Given the description of an element on the screen output the (x, y) to click on. 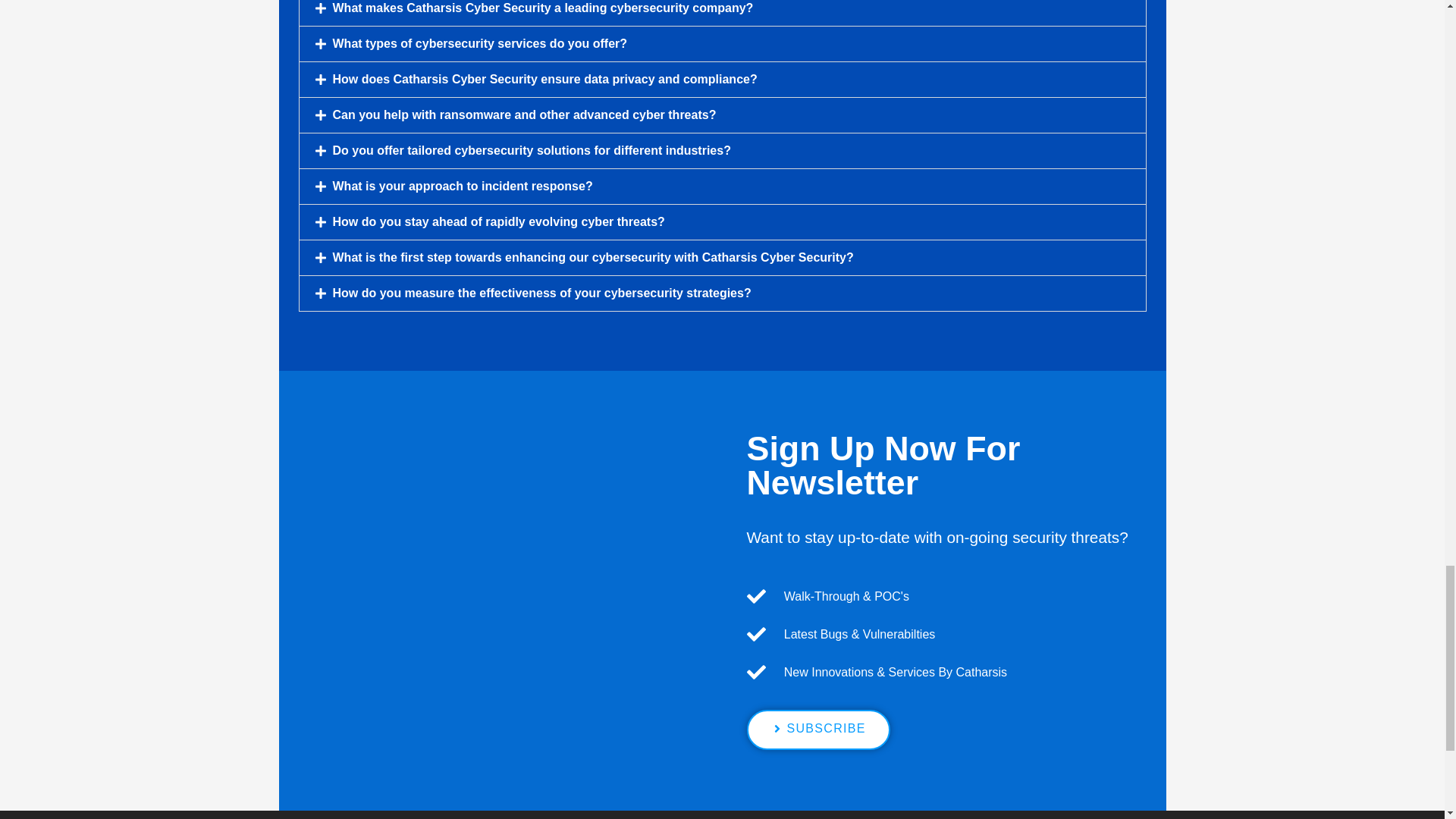
What types of cybersecurity services do you offer? (479, 42)
SUBSCRIBE (817, 730)
How do you stay ahead of rapidly evolving cyber threats? (497, 221)
What is your approach to incident response? (461, 185)
